Given the description of an element on the screen output the (x, y) to click on. 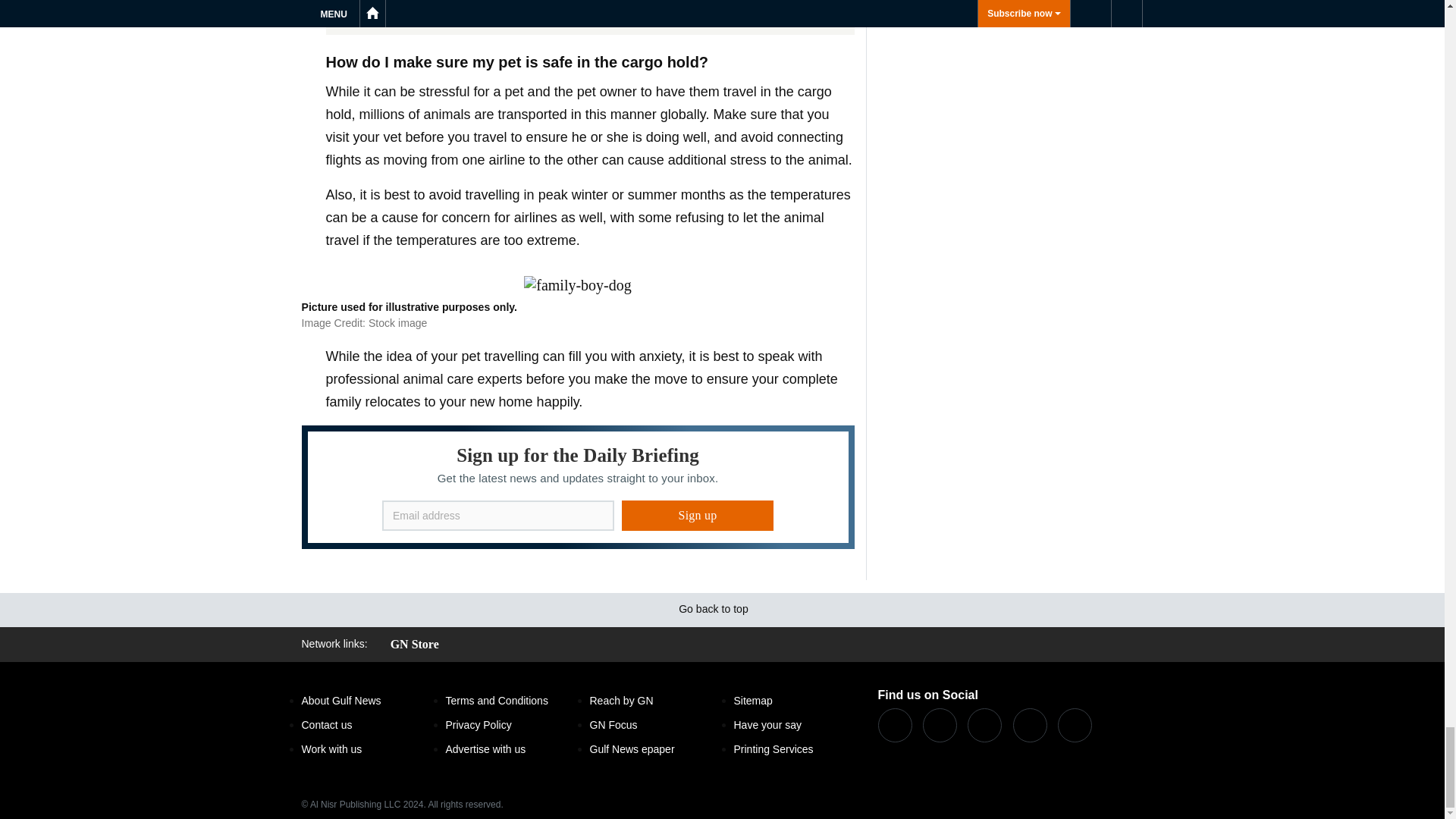
Sign up for the Daily Briefing (577, 486)
